Given the description of an element on the screen output the (x, y) to click on. 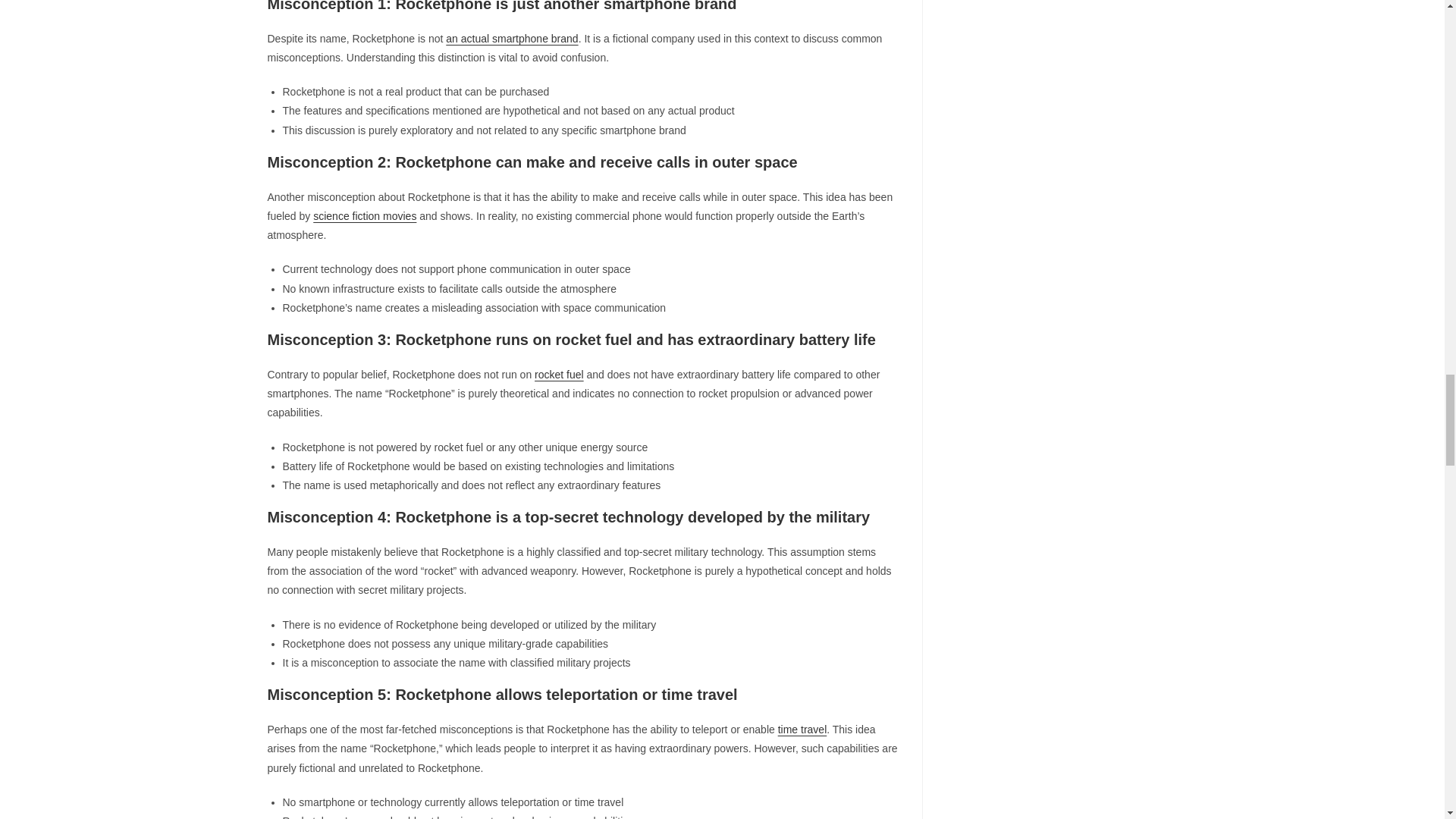
rocket fuel (558, 374)
an actual smartphone brand (511, 38)
science fiction movies (364, 215)
time travel (802, 729)
